Given the description of an element on the screen output the (x, y) to click on. 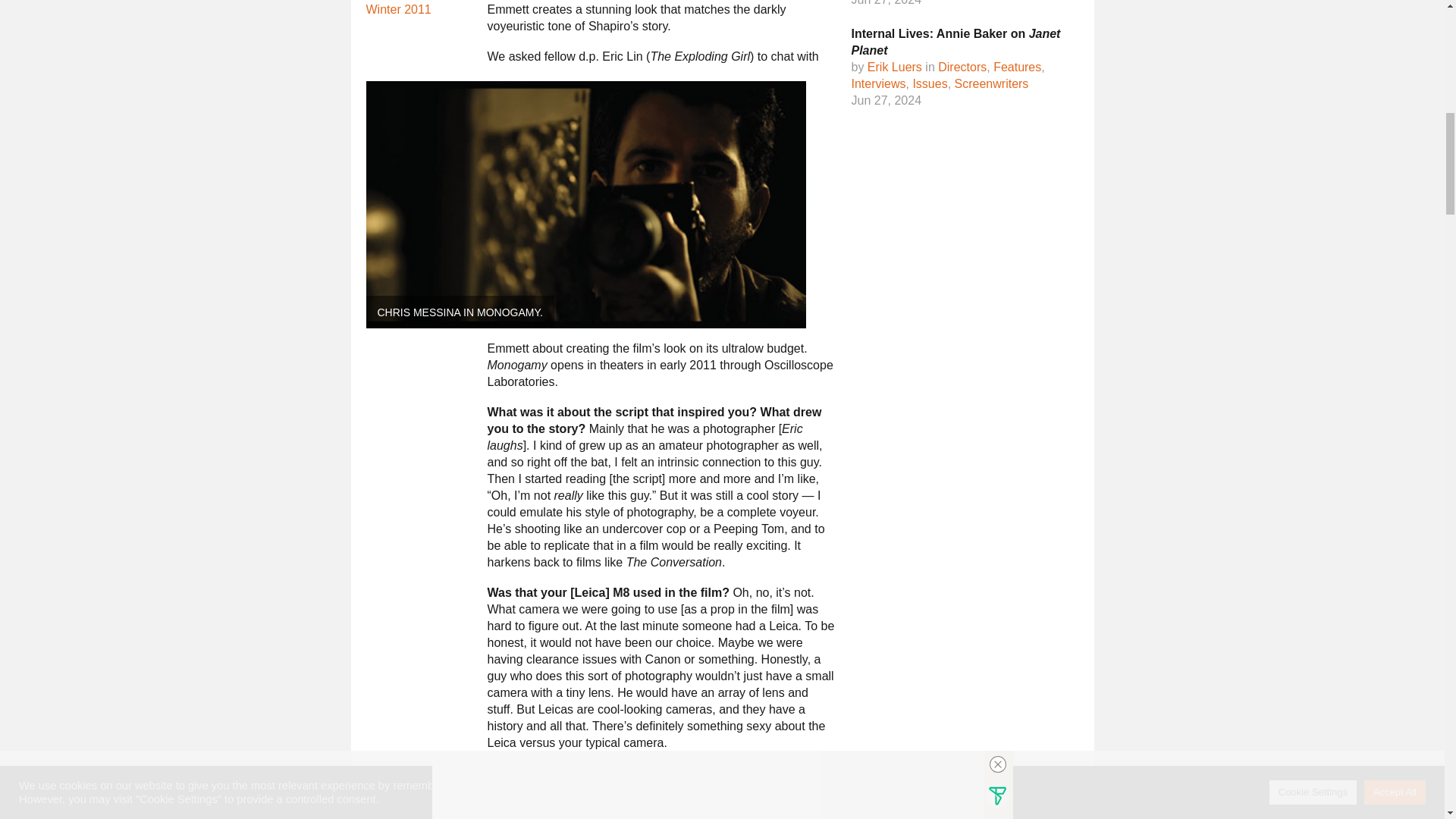
Posts by Erik Luers (894, 67)
